Given the description of an element on the screen output the (x, y) to click on. 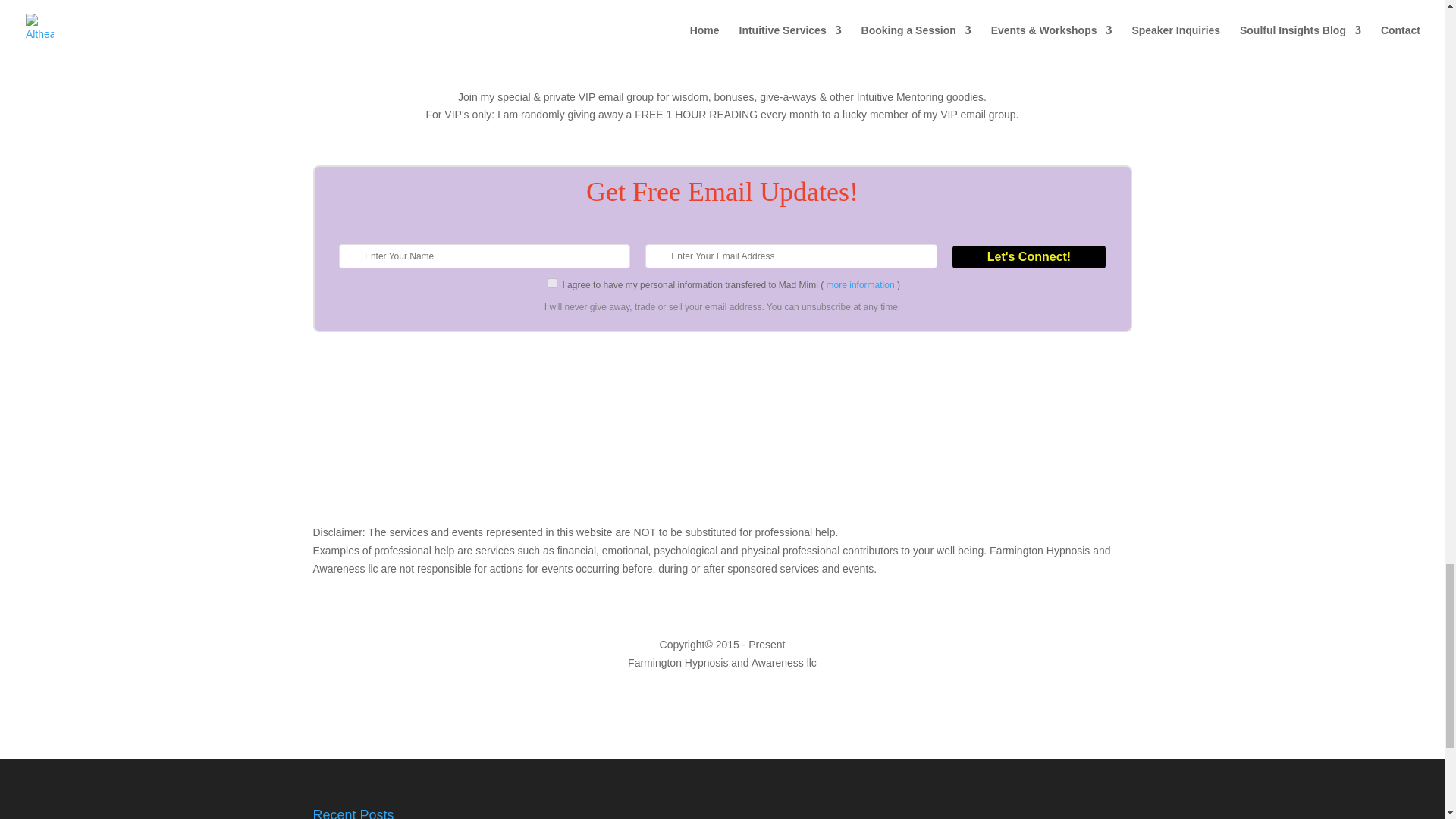
more information (861, 285)
on (552, 283)
Let's Connect! (1028, 256)
Let's Connect! (1028, 256)
